Given the description of an element on the screen output the (x, y) to click on. 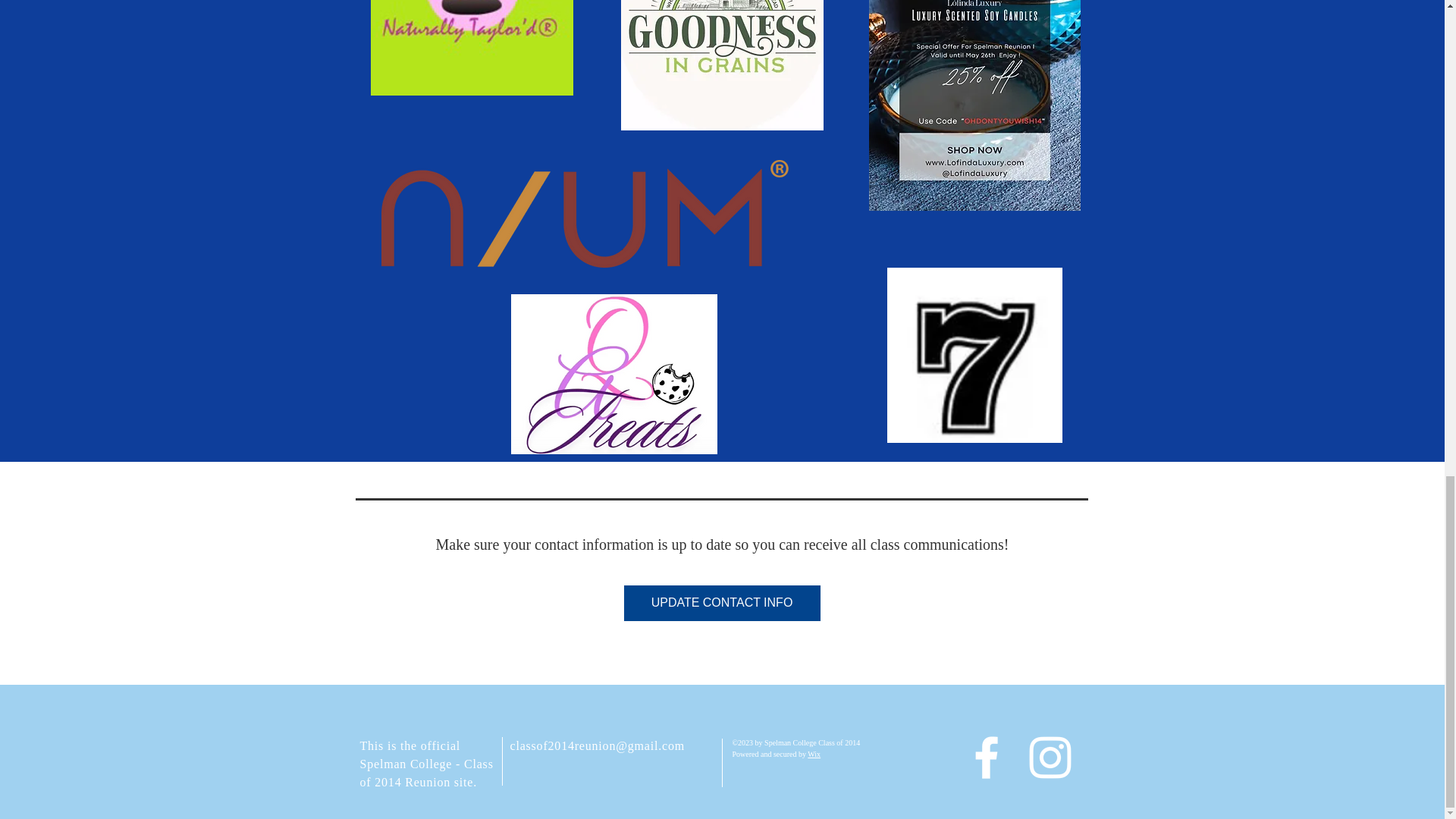
Lofinda Luxury.JPG (974, 105)
UPDATE CONTACT INFO (722, 602)
Wix (814, 754)
